Given the description of an element on the screen output the (x, y) to click on. 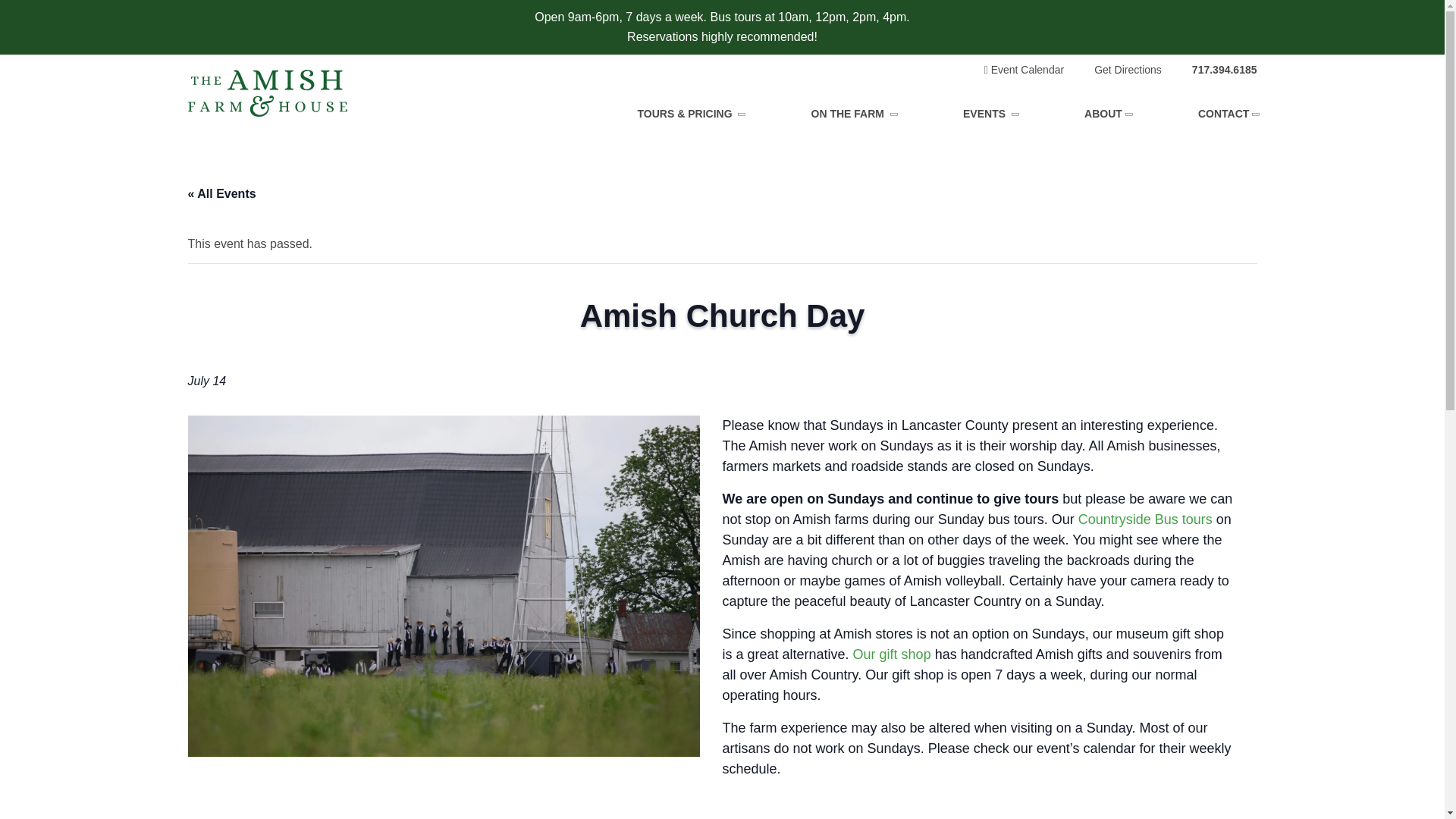
Logo (267, 93)
ABOUT (1106, 113)
Logo (267, 93)
CONTACT (1227, 113)
Countryside Bus tours (1145, 519)
Event Calendar (1024, 69)
EVENTS (989, 113)
717.394.6185 (1224, 69)
Our gift shop (892, 654)
Get Directions (1127, 69)
ON THE FARM (852, 113)
